Given the description of an element on the screen output the (x, y) to click on. 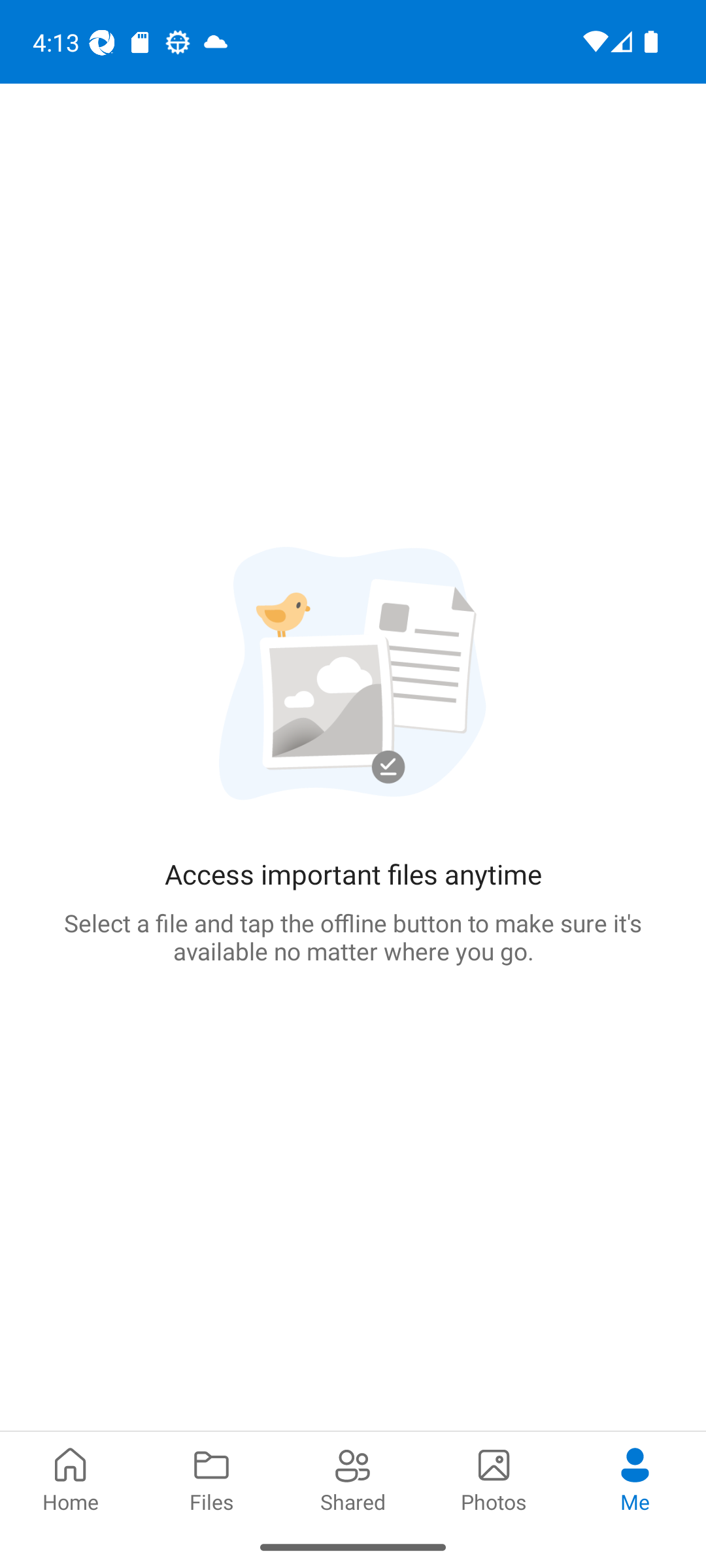
Home pivot Home (70, 1478)
Files pivot Files (211, 1478)
Shared pivot Shared (352, 1478)
Photos pivot Photos (493, 1478)
